Given the description of an element on the screen output the (x, y) to click on. 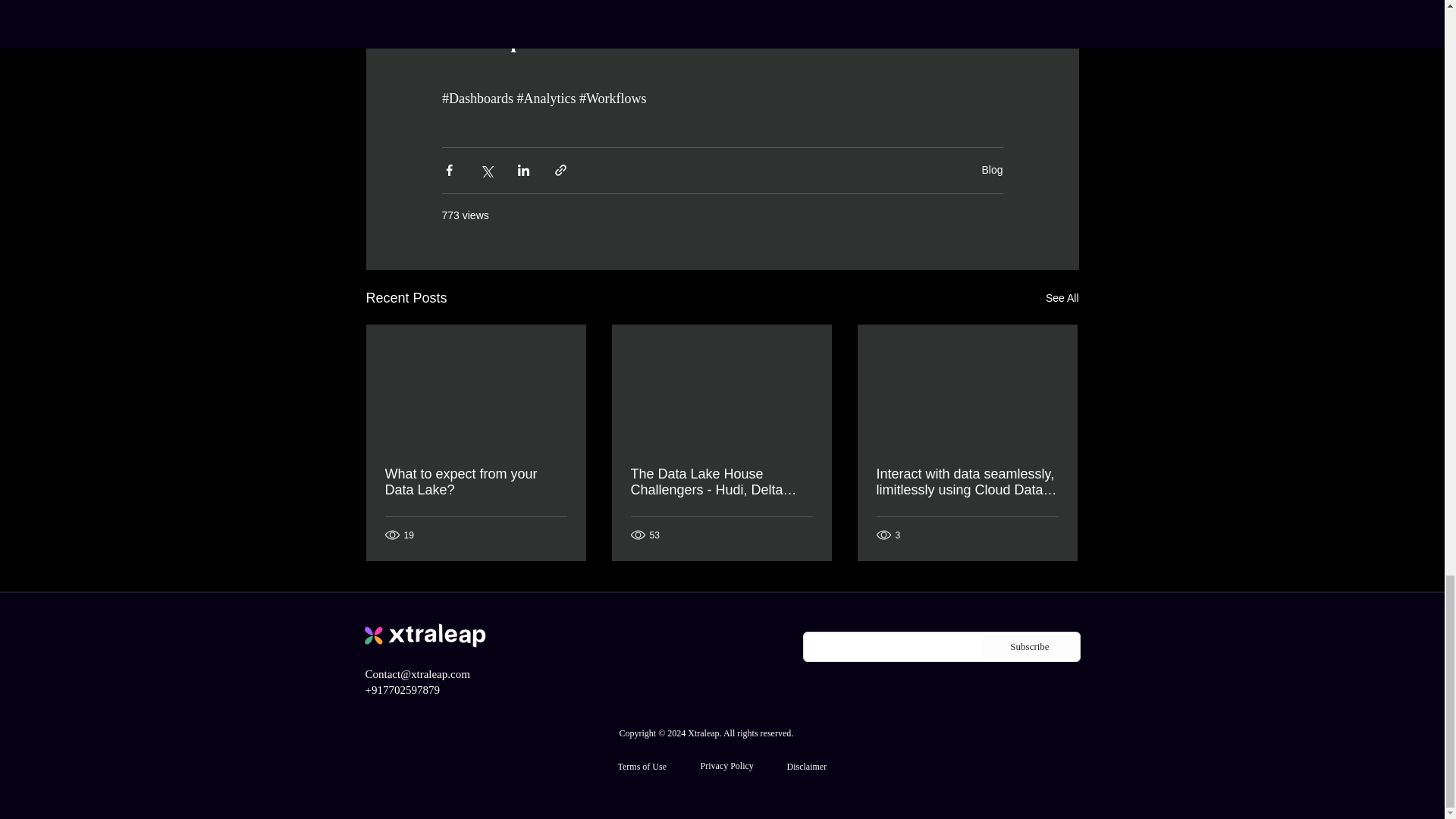
See All (1061, 298)
Privacy Policy (727, 765)
What to expect from your Data Lake? (476, 481)
Blog (992, 169)
Terms of Use (641, 766)
Subscribe (1029, 646)
